Given the description of an element on the screen output the (x, y) to click on. 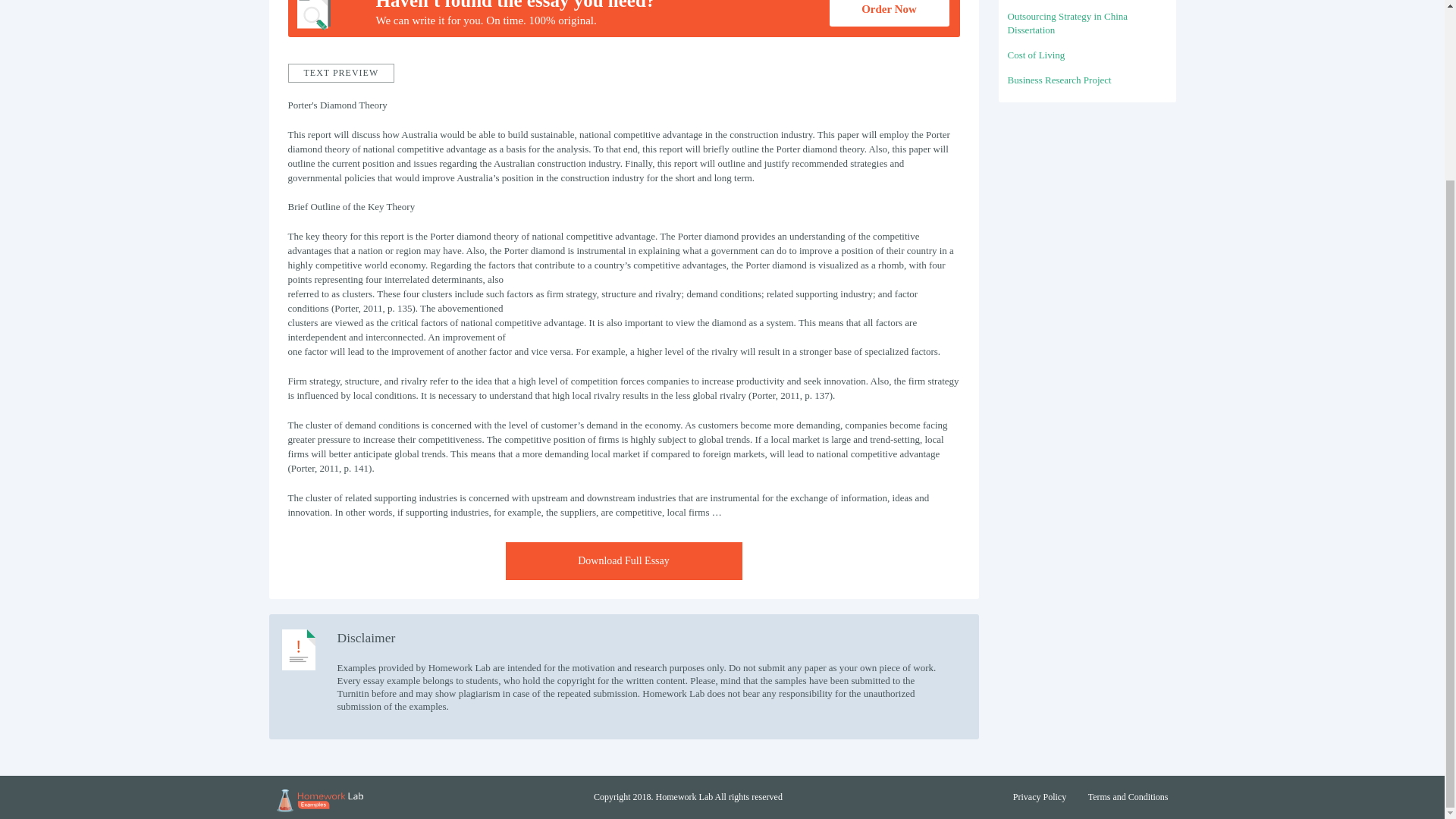
Order Now (889, 13)
Outsourcing Strategy in China Dissertation (1066, 23)
Privacy Policy (1039, 796)
Cost of Living (1035, 54)
Business Research Project (1058, 79)
Terms and Conditions (1128, 796)
Download Full Essay (623, 560)
